Given the description of an element on the screen output the (x, y) to click on. 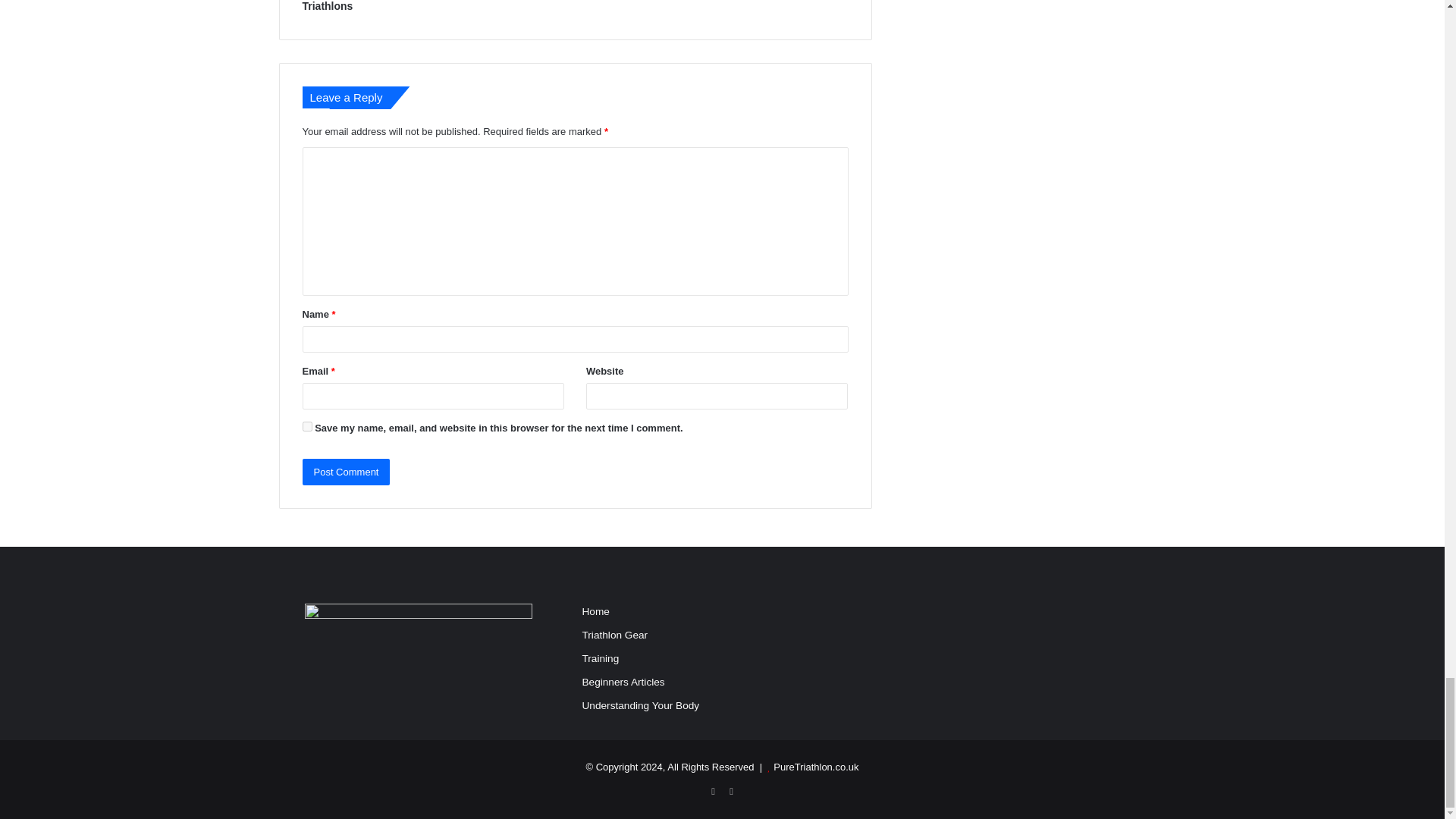
yes (306, 426)
Post Comment (345, 471)
